Given the description of an element on the screen output the (x, y) to click on. 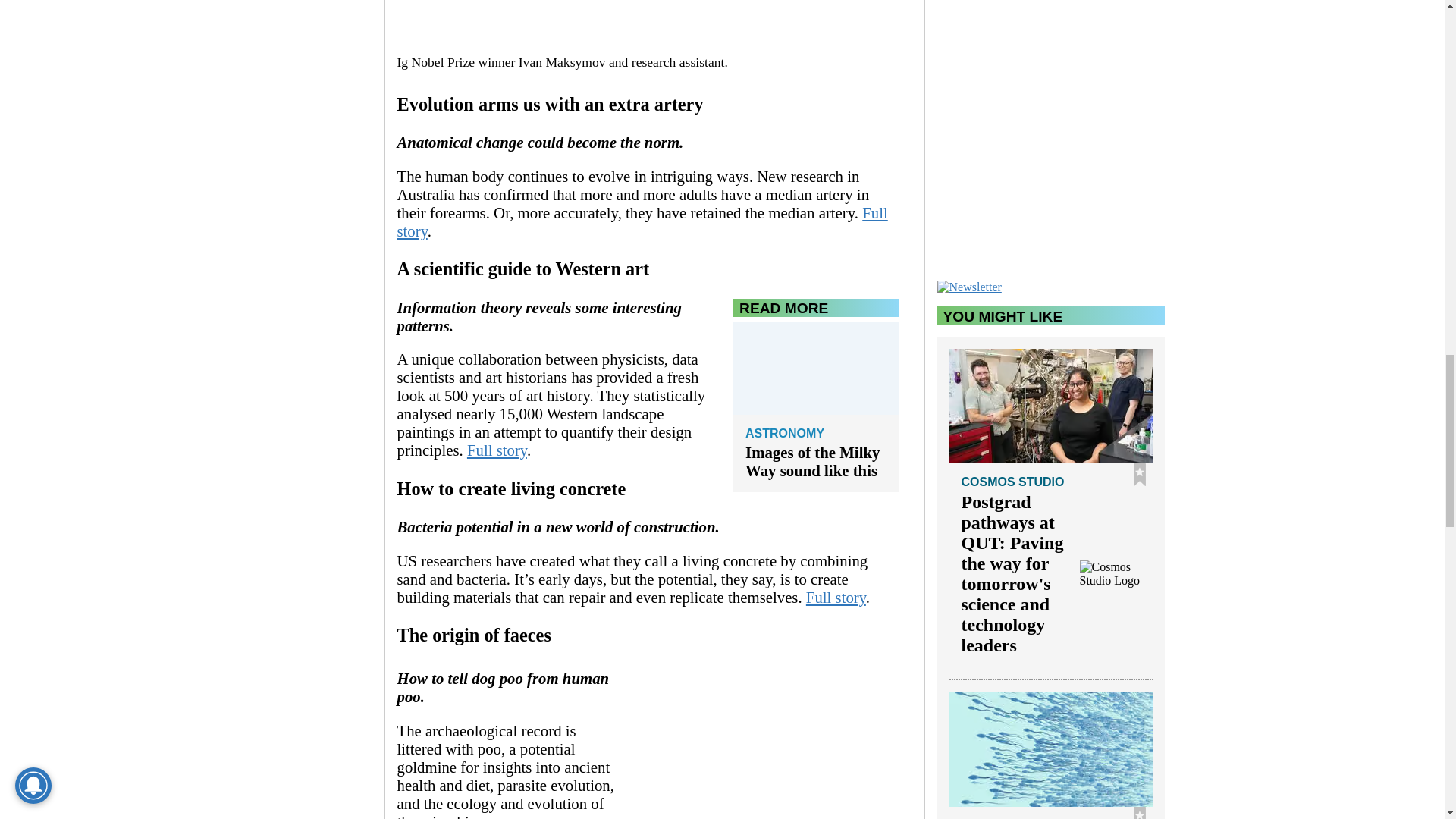
ASTRONOMY (815, 434)
and 12 others that we found intriguing 3 (772, 741)
Full story (642, 221)
and 12 others that we found intriguing 1 (648, 22)
Images of the Milky Way sound like this (815, 461)
